Given the description of an element on the screen output the (x, y) to click on. 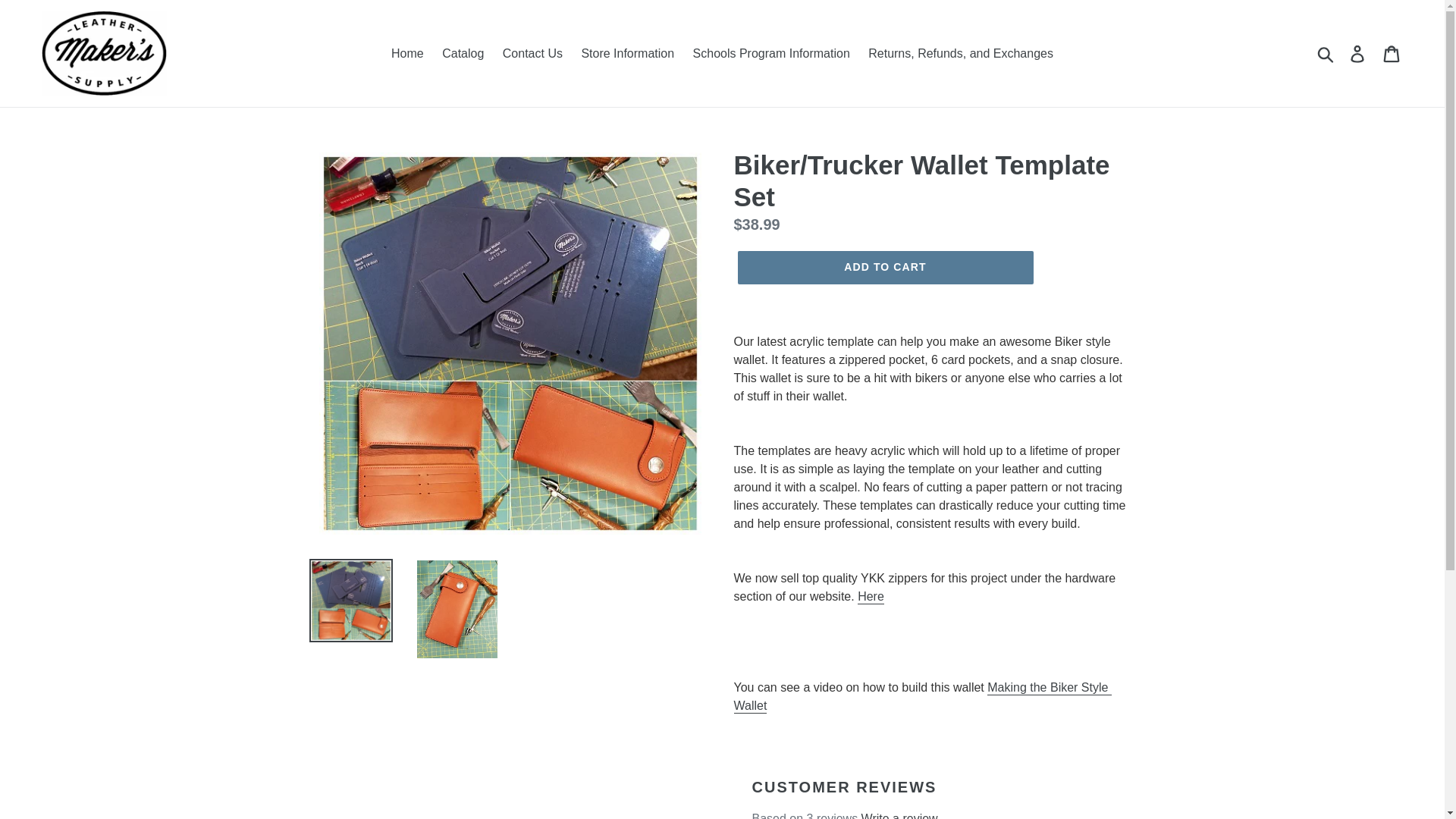
Returns, Refunds, and Exchanges (960, 53)
Submit (1326, 52)
Making the Biker Style Wallet (922, 696)
Here (870, 596)
Making the Biker Style Wallet (922, 696)
Write a review (899, 815)
Catalog (462, 53)
Schools Program Information (771, 53)
Contact Us (532, 53)
Log in (1357, 52)
ADD TO CART (884, 267)
Home (407, 53)
Store Information (627, 53)
Cart (1392, 52)
